Given the description of an element on the screen output the (x, y) to click on. 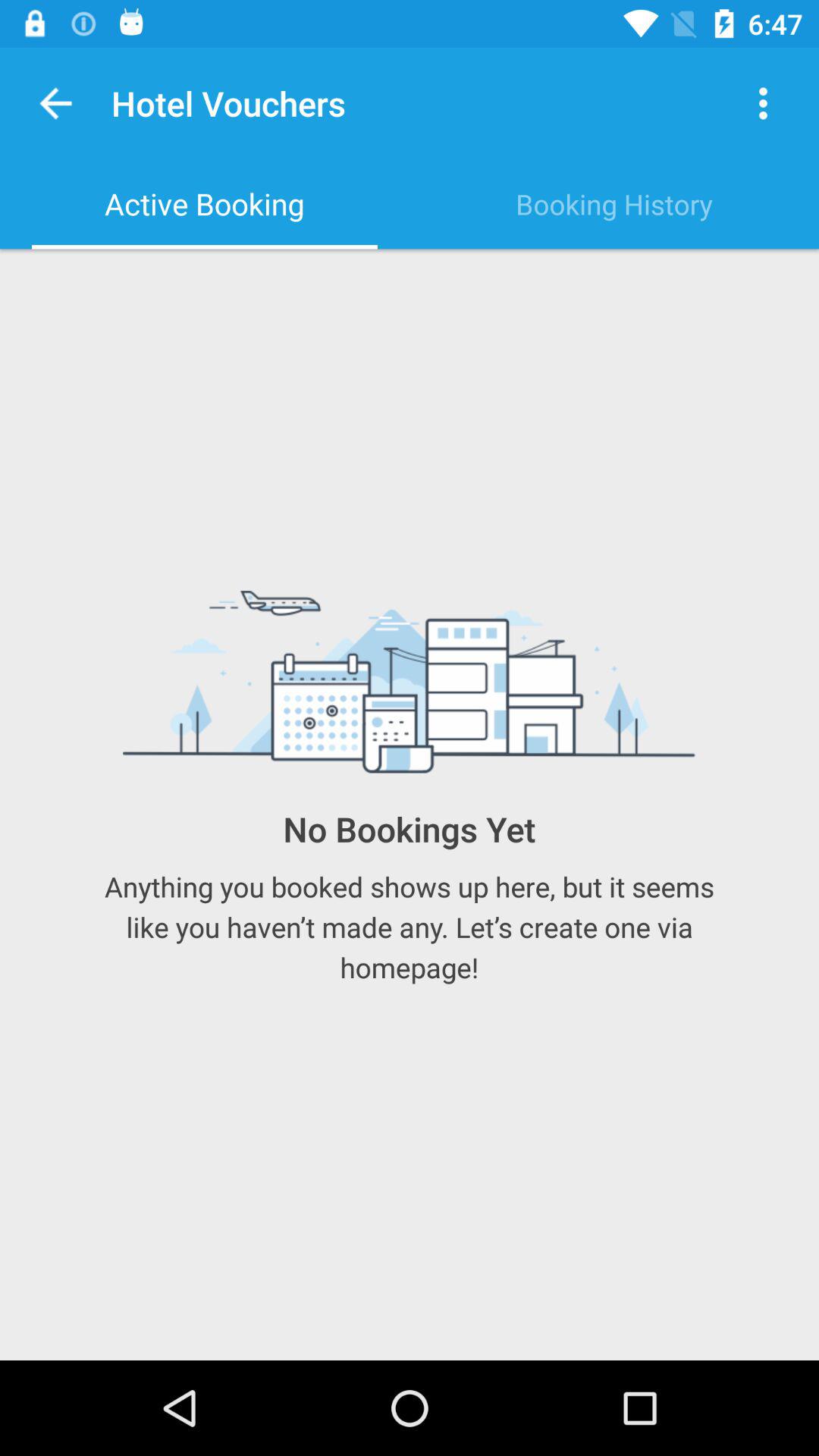
launch the icon next to hotel vouchers icon (55, 103)
